Given the description of an element on the screen output the (x, y) to click on. 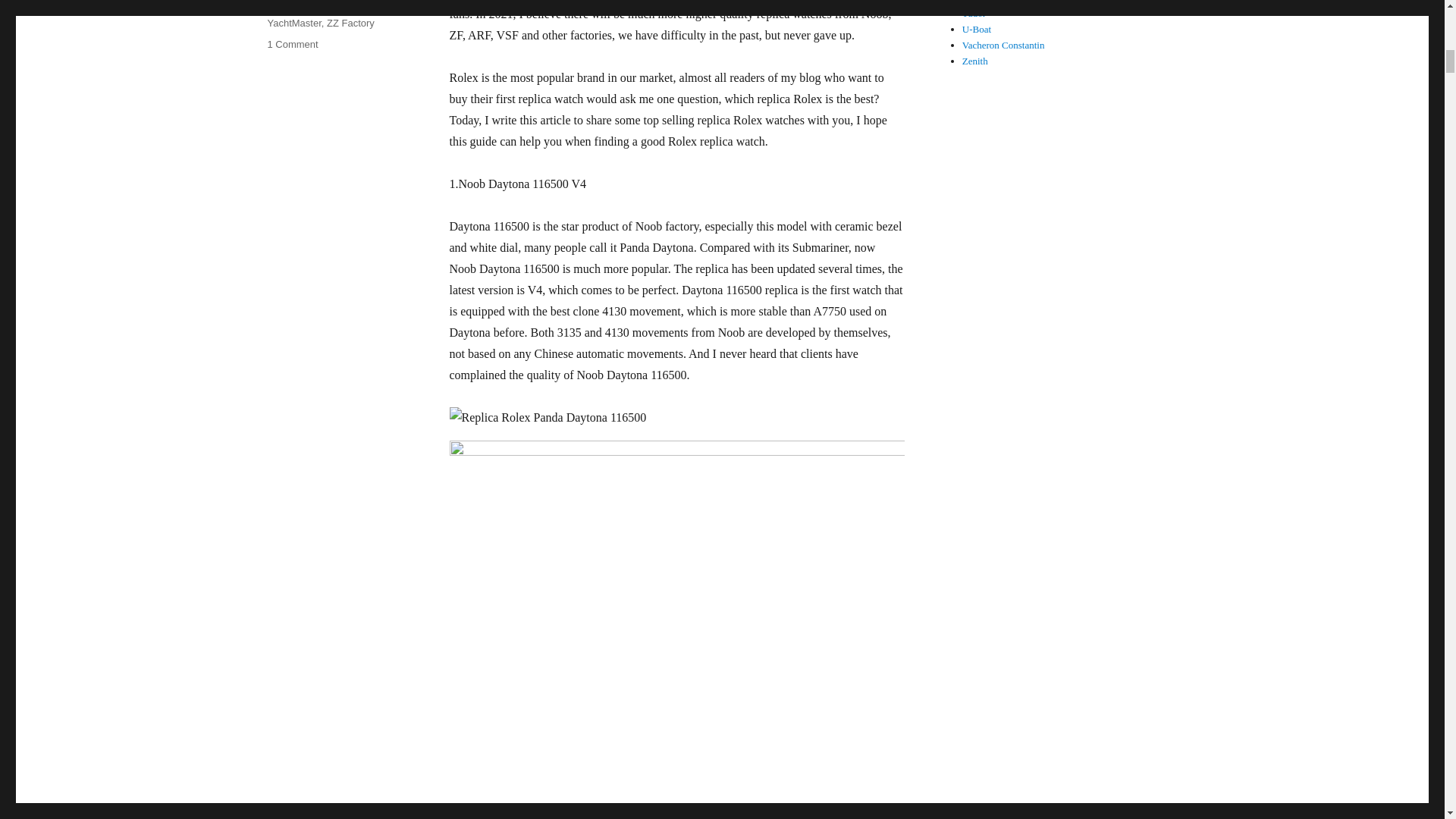
ZZ Factory (350, 22)
VS Factory (291, 43)
Submariner (347, 7)
YachtMaster (291, 7)
